Given the description of an element on the screen output the (x, y) to click on. 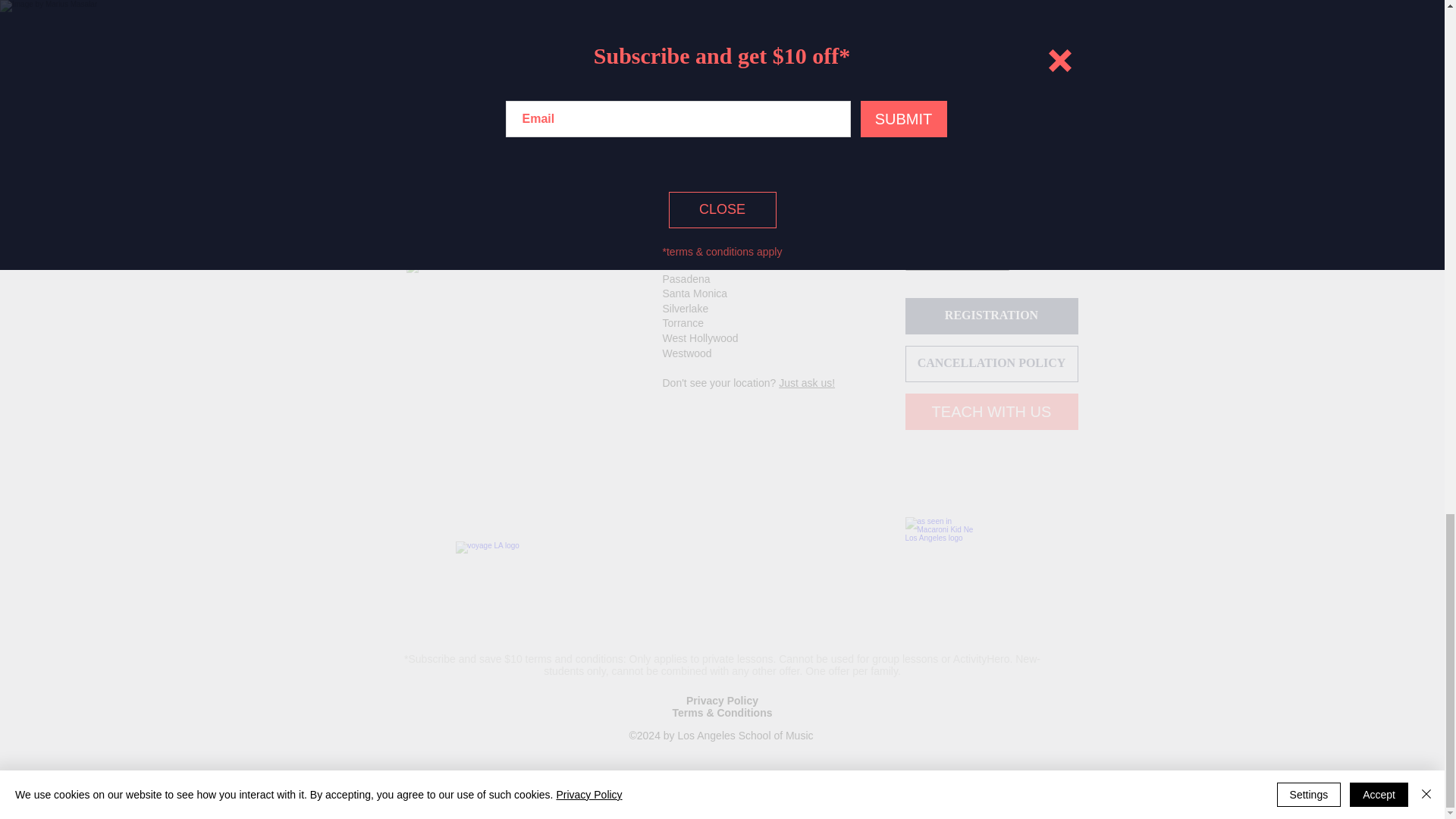
REGISTRATION (991, 316)
CANCELLATION POLICY (991, 363)
213-290-6568 (457, 168)
Piano Lessons Near Me (961, 70)
Piano Lessons in Los Angeles (975, 85)
Online Piano Lessons (957, 265)
Just ask us! (806, 382)
TEACH WITH US (991, 411)
Hollywood (686, 159)
Embedded Content (722, 552)
